Given the description of an element on the screen output the (x, y) to click on. 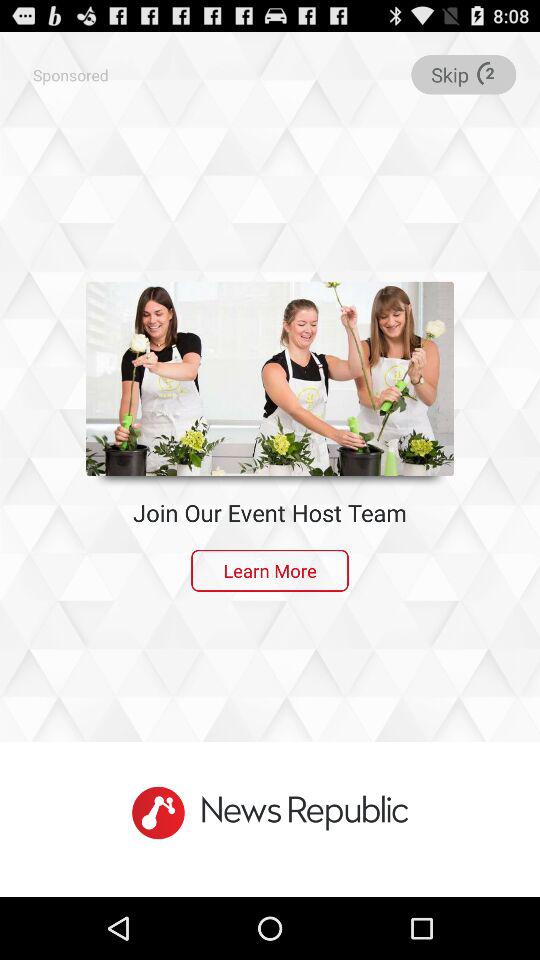
open advertisement (269, 378)
